Given the description of an element on the screen output the (x, y) to click on. 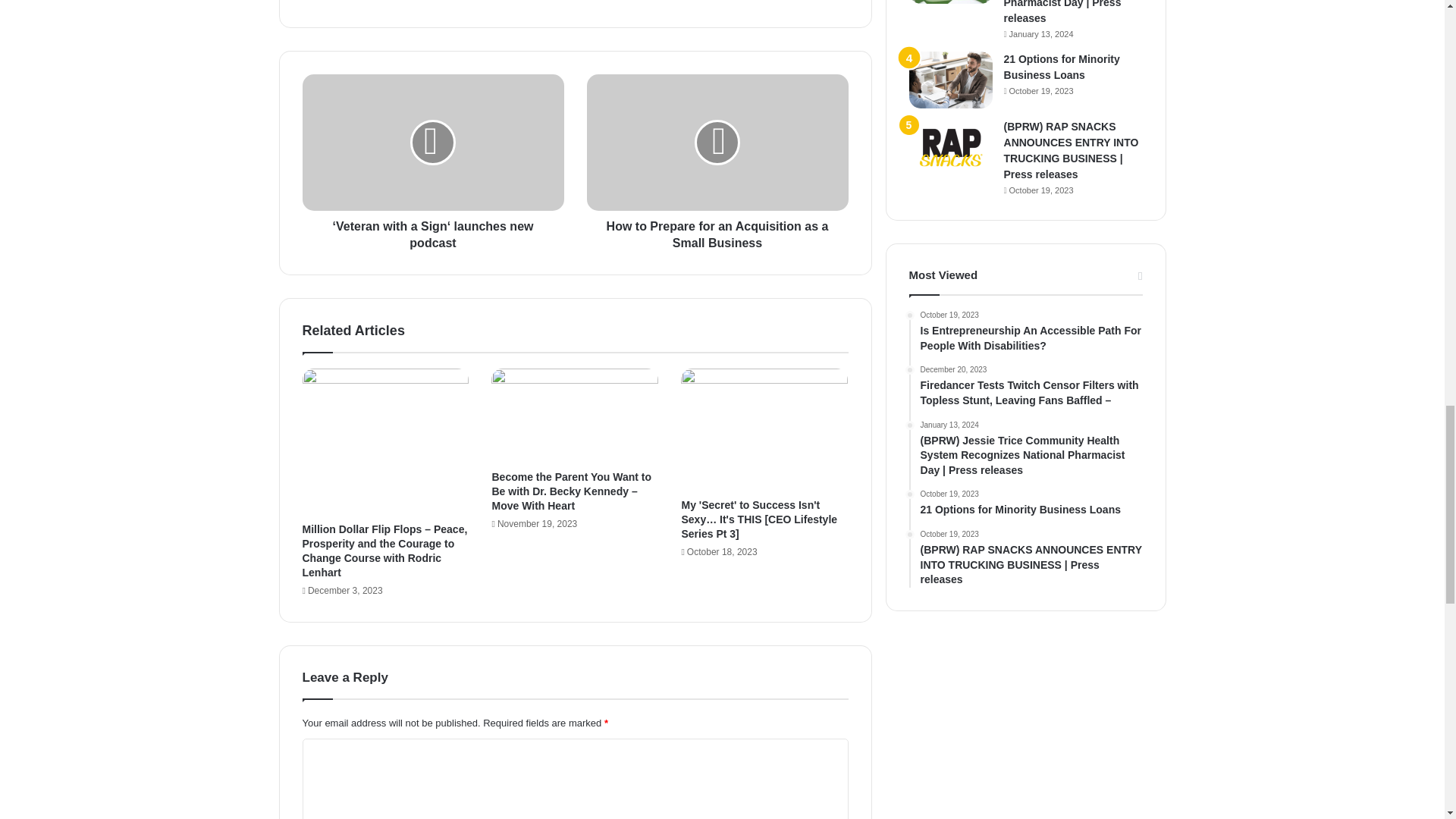
Website (410, 2)
